Given the description of an element on the screen output the (x, y) to click on. 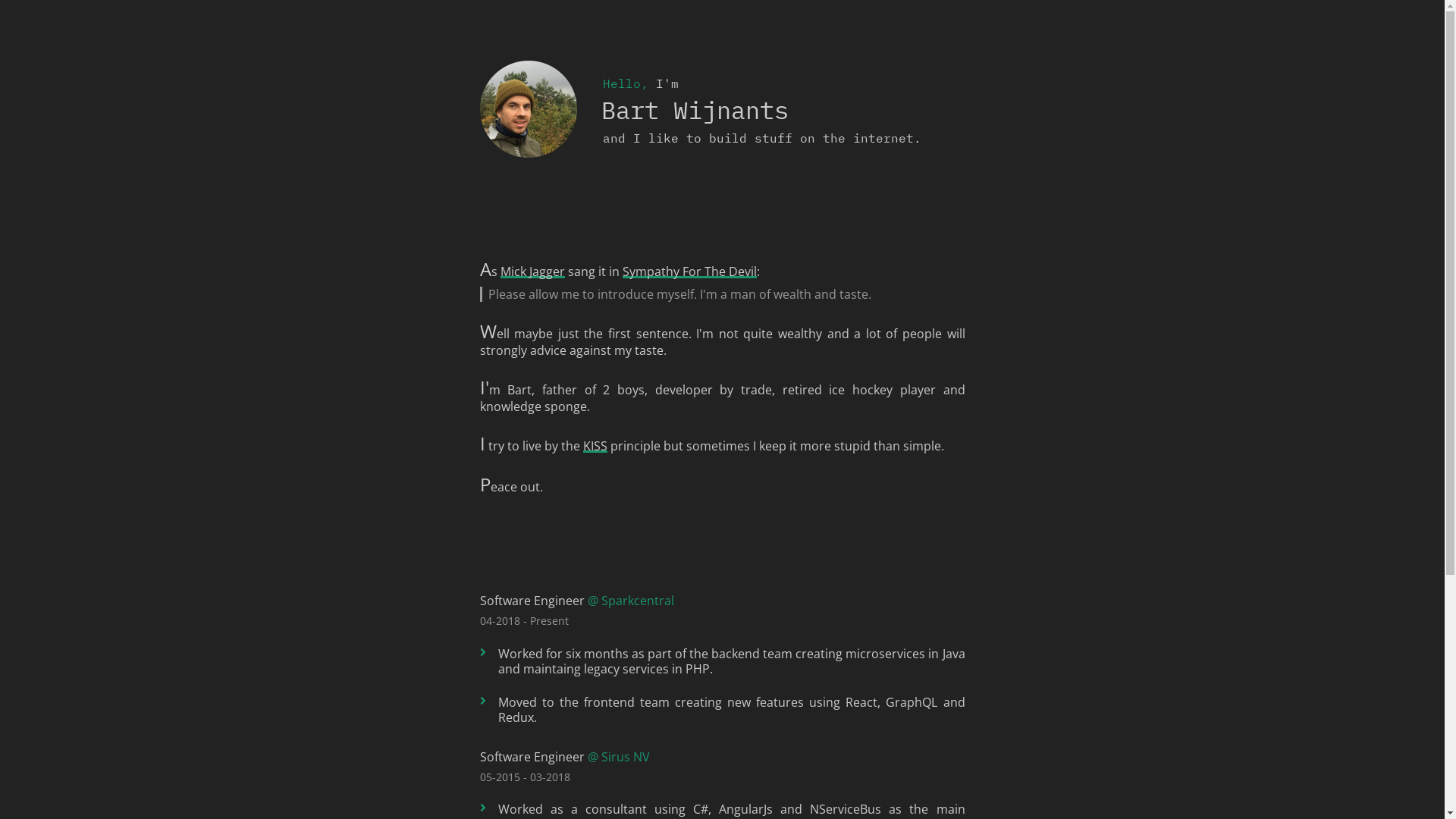
Sympathy For The Devil Element type: text (688, 271)
KISS Element type: text (594, 445)
Mick Jagger Element type: text (532, 271)
